Given the description of an element on the screen output the (x, y) to click on. 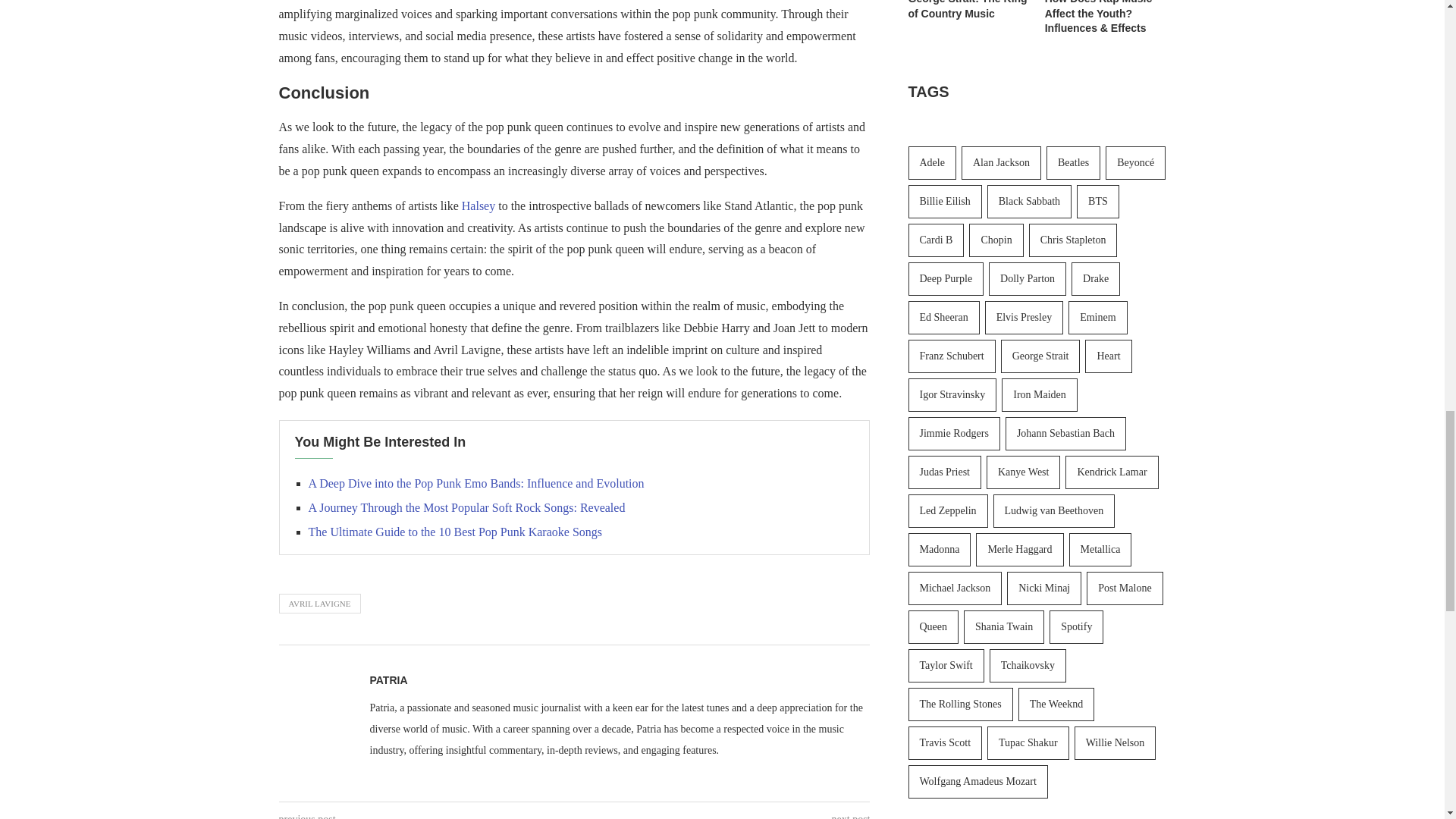
Author Patria (388, 680)
